Given the description of an element on the screen output the (x, y) to click on. 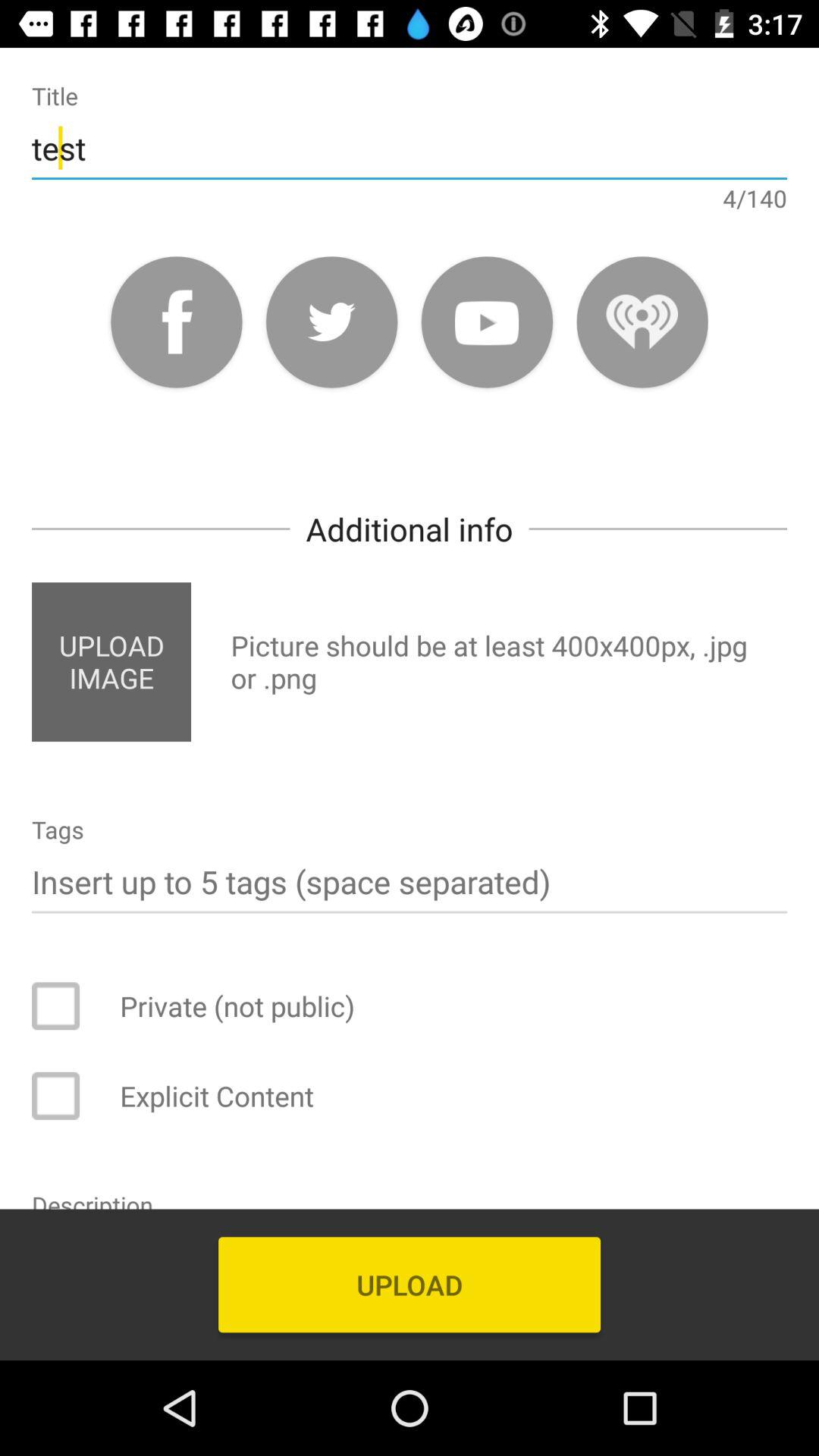
click twitter (331, 321)
